Given the description of an element on the screen output the (x, y) to click on. 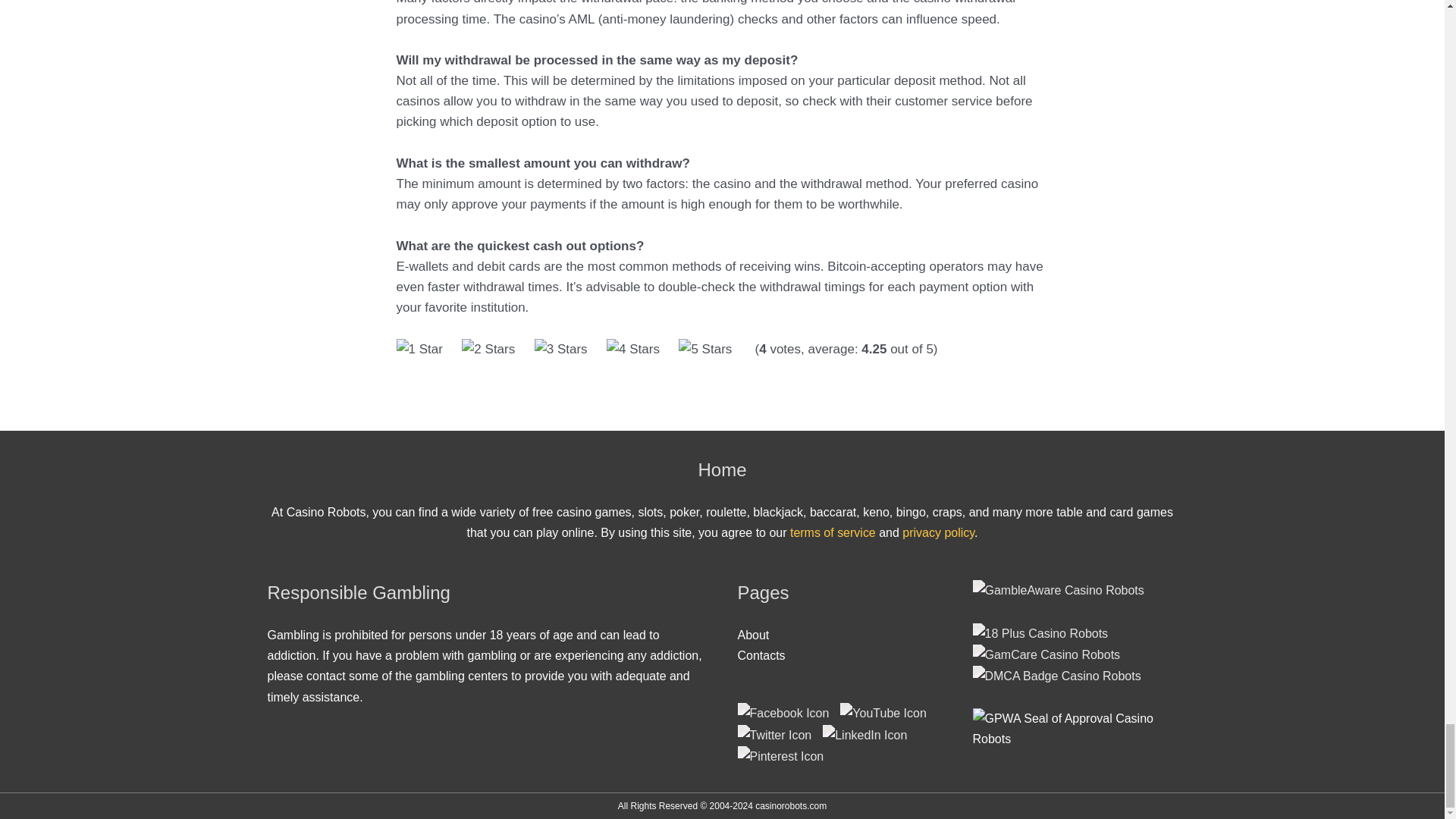
dmca badge - casino robots (1064, 675)
5 Stars (705, 349)
3 Stars (561, 349)
2 Stars (488, 349)
4 Stars (633, 349)
1 Star (419, 349)
